Given the description of an element on the screen output the (x, y) to click on. 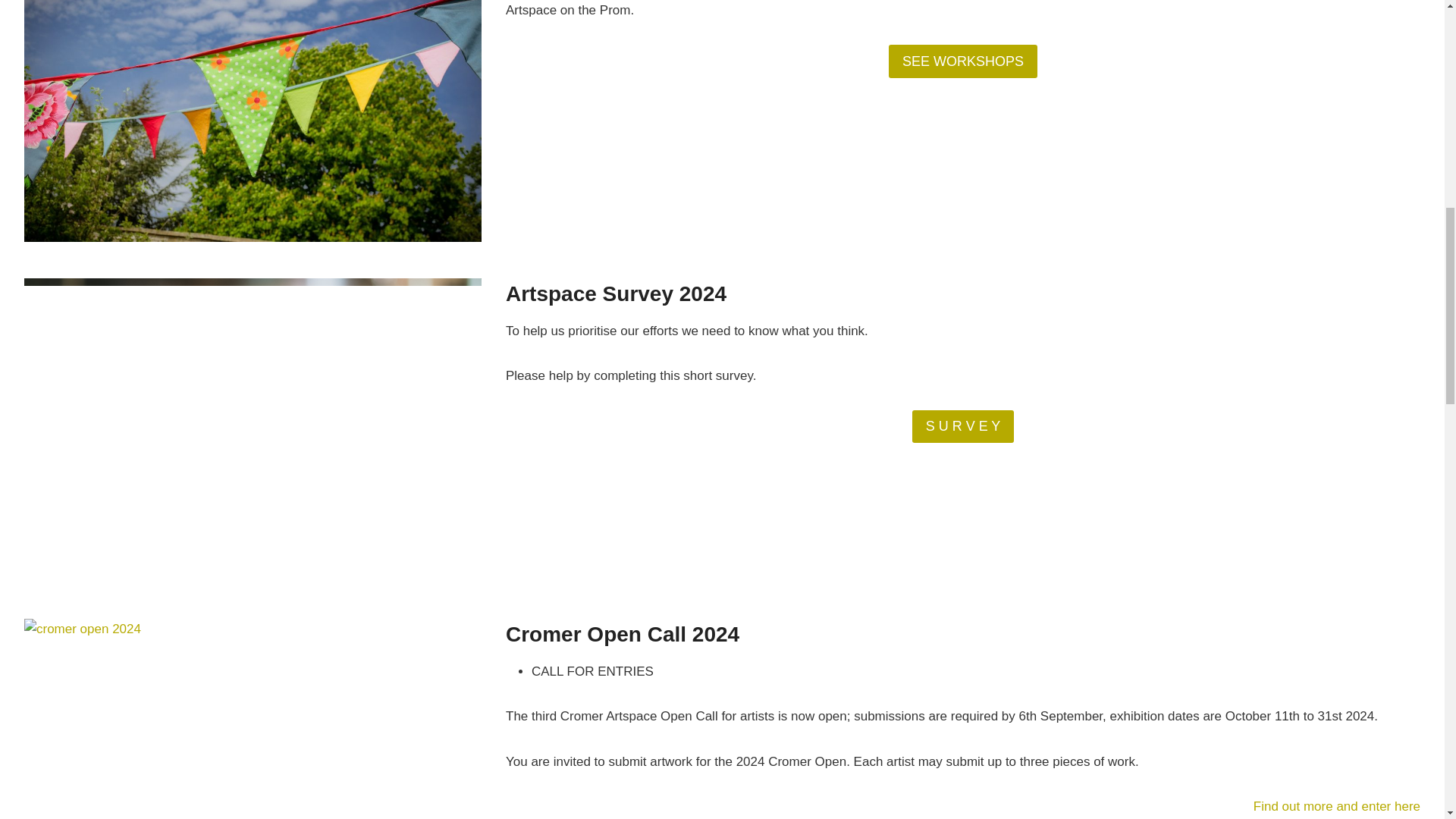
Find out more and enter here (1337, 806)
S U R V E Y (963, 426)
Cromer Open Call 2024 (622, 634)
SEE WORKSHOPS (962, 60)
Artspace Survey 2024 (615, 293)
